Given the description of an element on the screen output the (x, y) to click on. 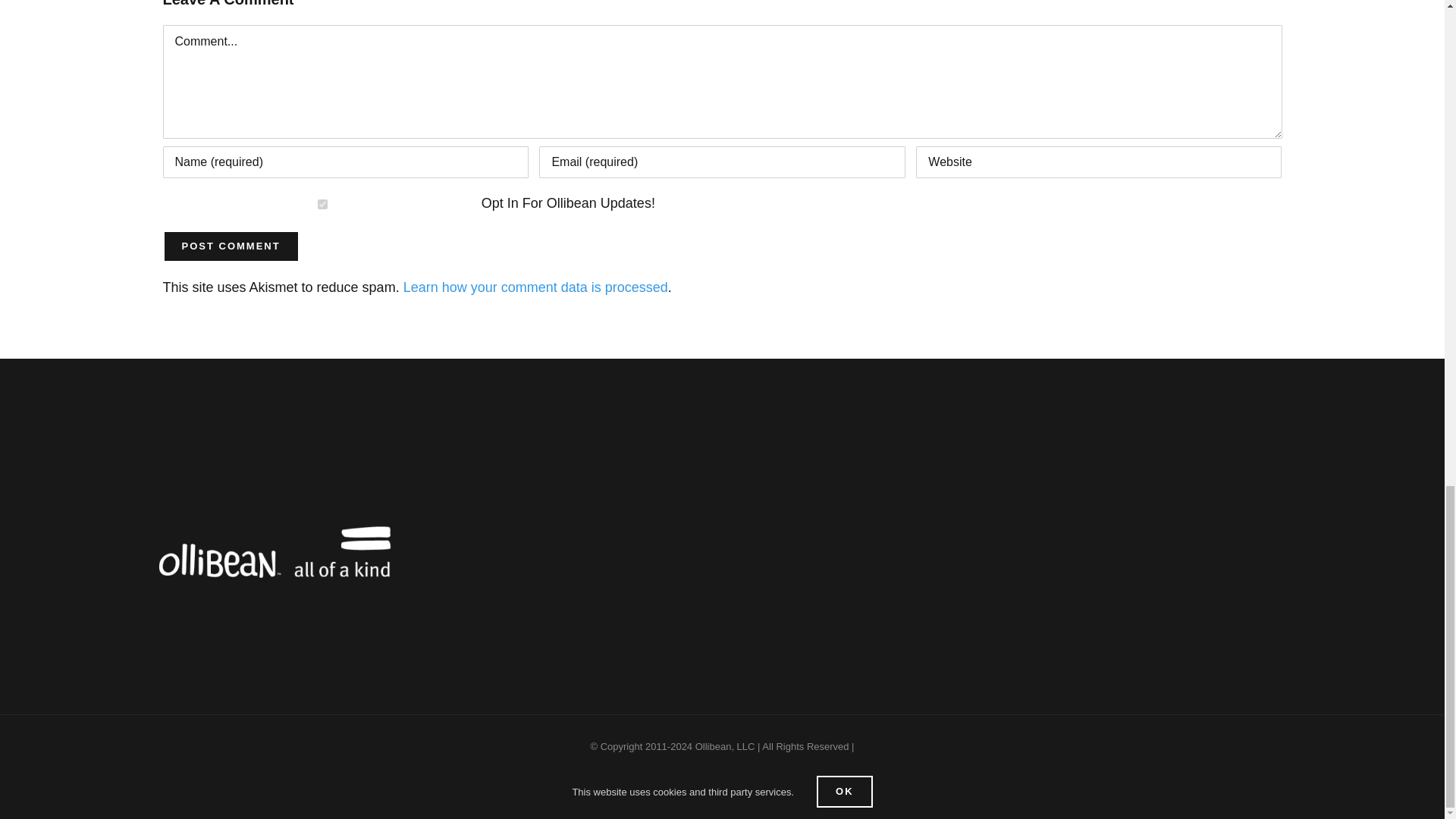
1 (322, 204)
Post Comment (229, 246)
